Given the description of an element on the screen output the (x, y) to click on. 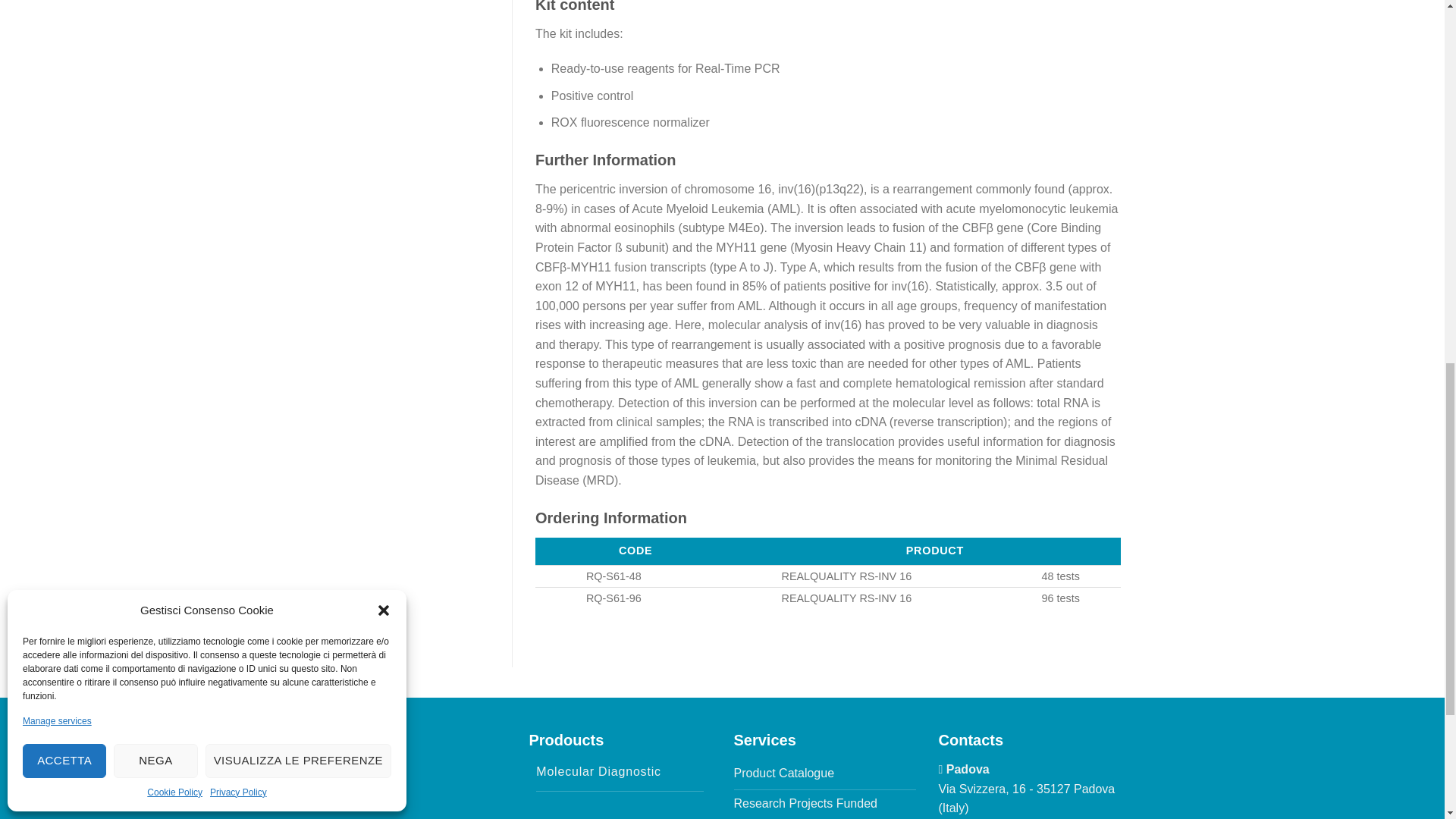
CODE PRODUCT (916, 550)
CODE PRODUCT (828, 550)
